Given the description of an element on the screen output the (x, y) to click on. 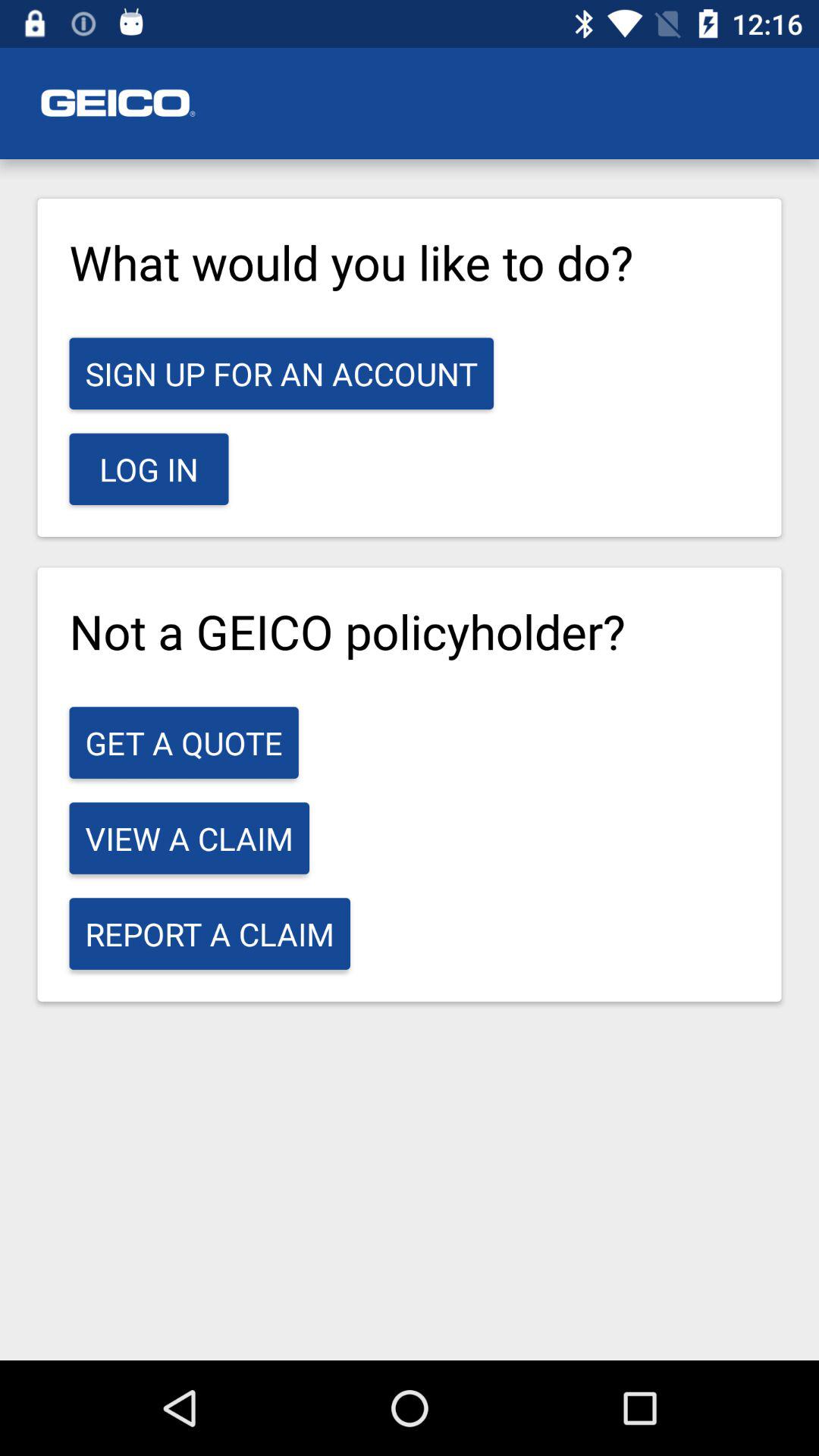
tap the item above the view a claim icon (183, 742)
